Given the description of an element on the screen output the (x, y) to click on. 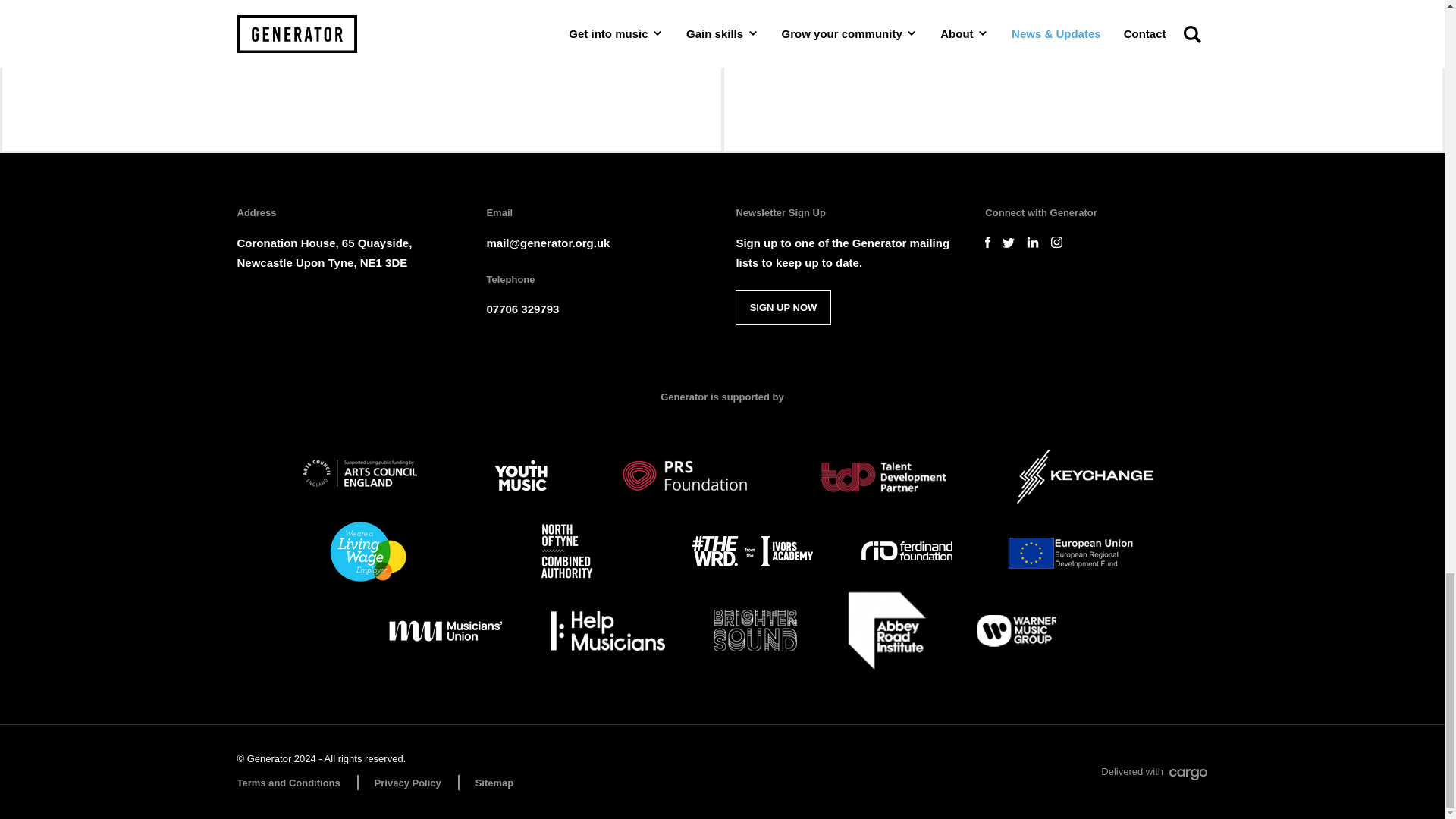
Sign up to receive Generator updates (782, 307)
SIGN UP NOW (782, 307)
Read the entry titled 'TIPPER OF THE WEEK: SAMMY SADLER' (361, 76)
